Given the description of an element on the screen output the (x, y) to click on. 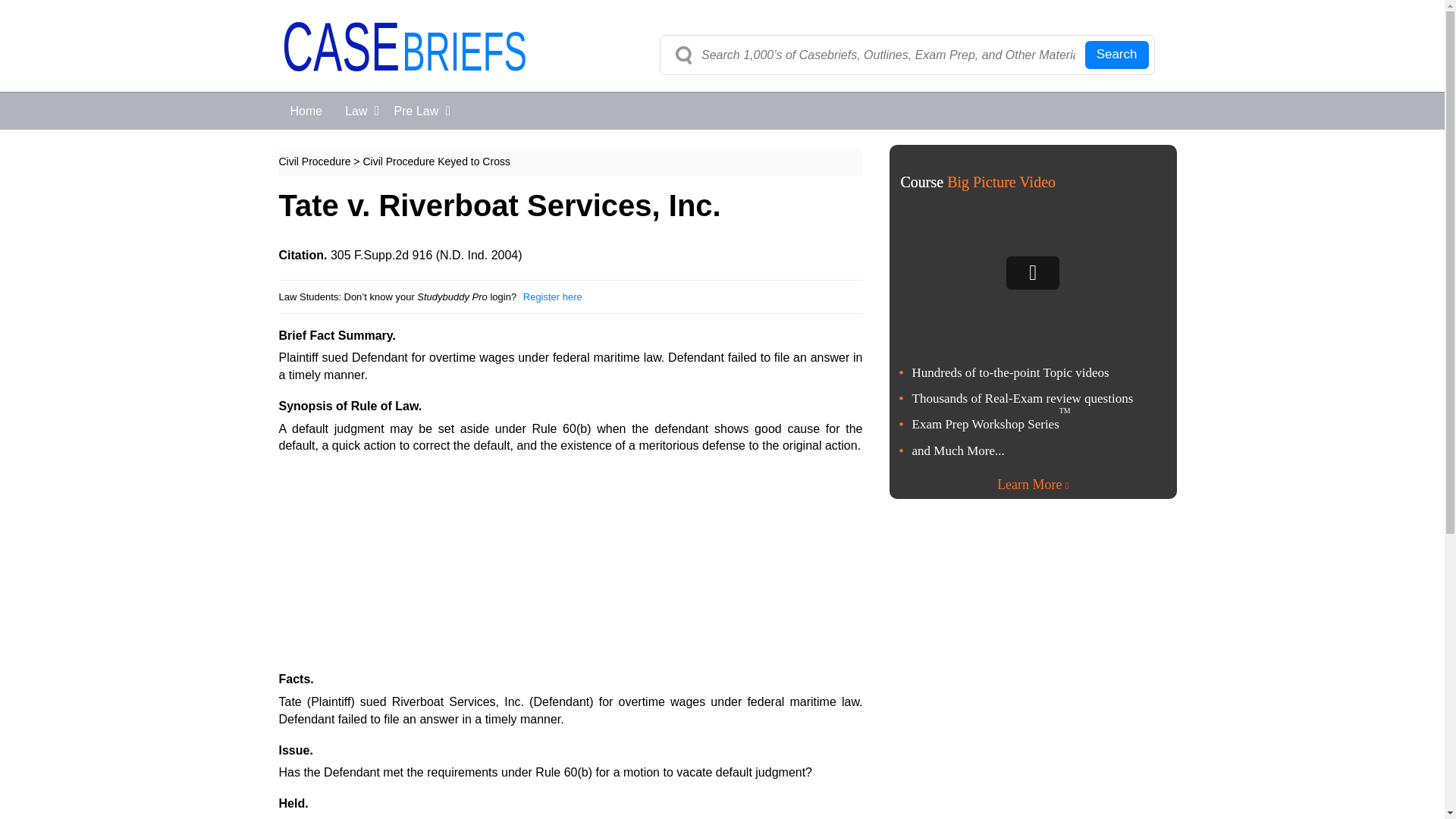
Home (306, 110)
Search (1116, 54)
CASE BRIEFS (405, 59)
